Given the description of an element on the screen output the (x, y) to click on. 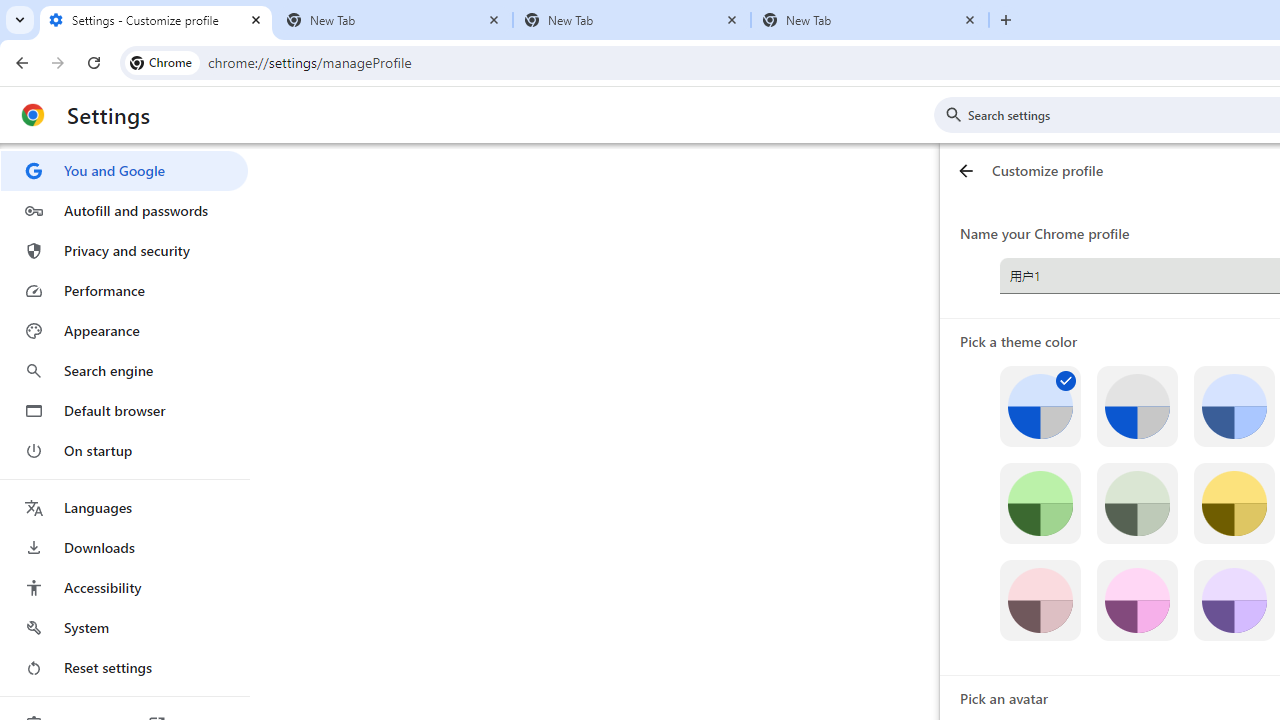
New Tab (394, 20)
Performance (124, 290)
New Tab (632, 20)
Default browser (124, 410)
You and Google (124, 170)
Reset settings (124, 668)
Appearance (124, 331)
Settings - Customize profile (156, 20)
Languages (124, 507)
